Given the description of an element on the screen output the (x, y) to click on. 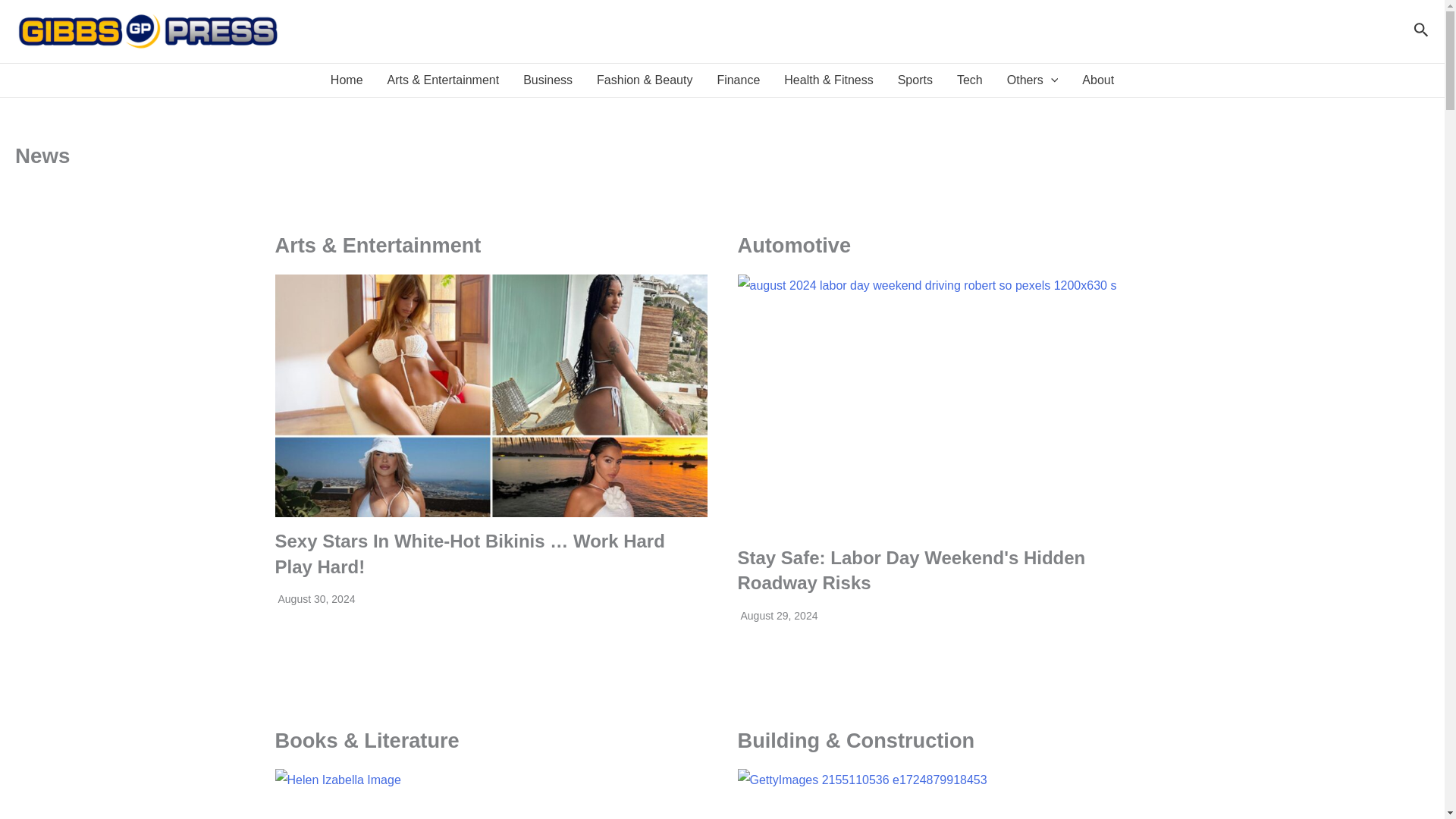
Home (346, 80)
Finance (737, 80)
About (1097, 80)
Sports (914, 80)
Others (1032, 80)
Business (548, 80)
Tech (969, 80)
